Given the description of an element on the screen output the (x, y) to click on. 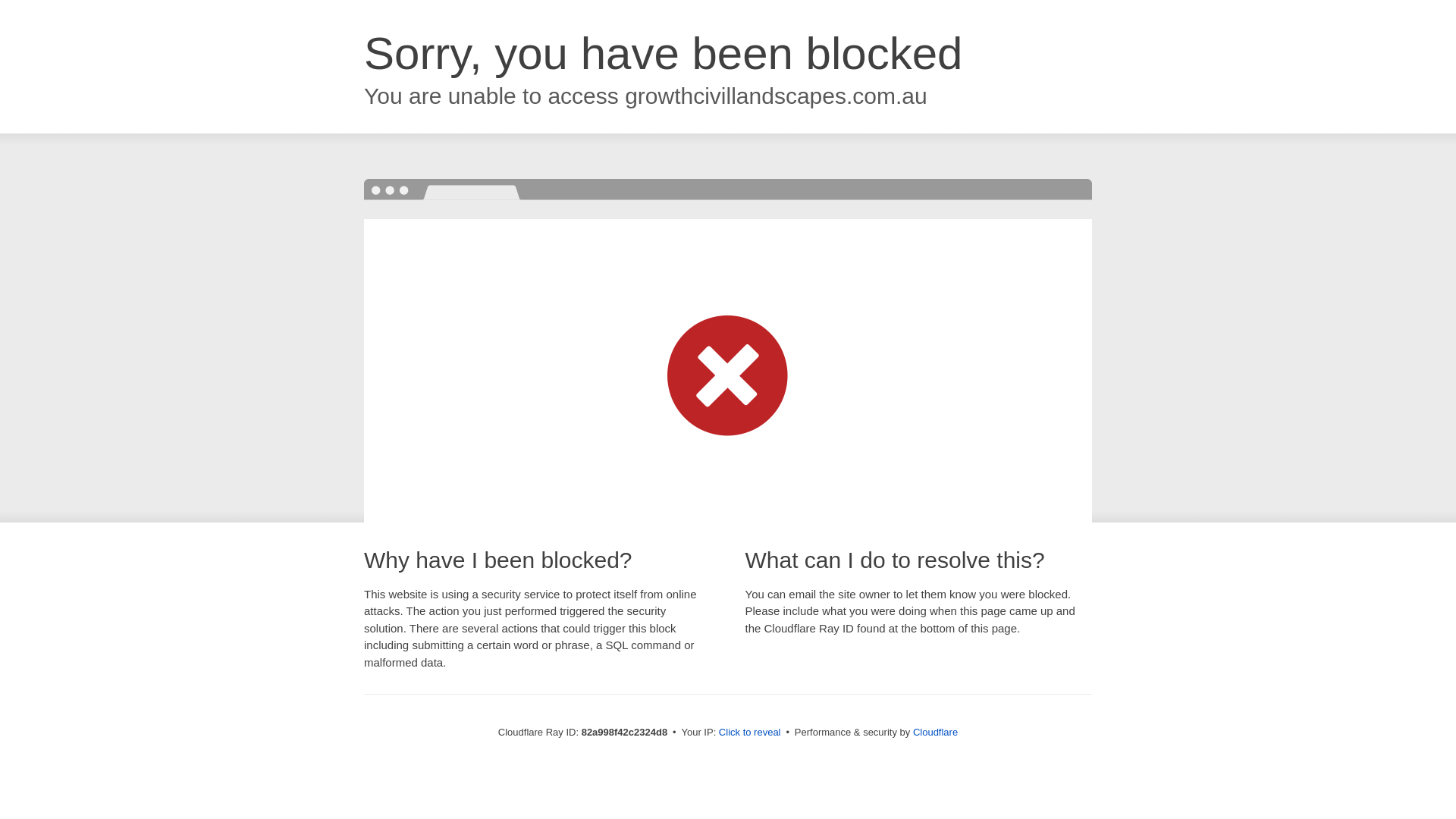
Cloudflare Element type: text (935, 731)
Click to reveal Element type: text (749, 732)
